Given the description of an element on the screen output the (x, y) to click on. 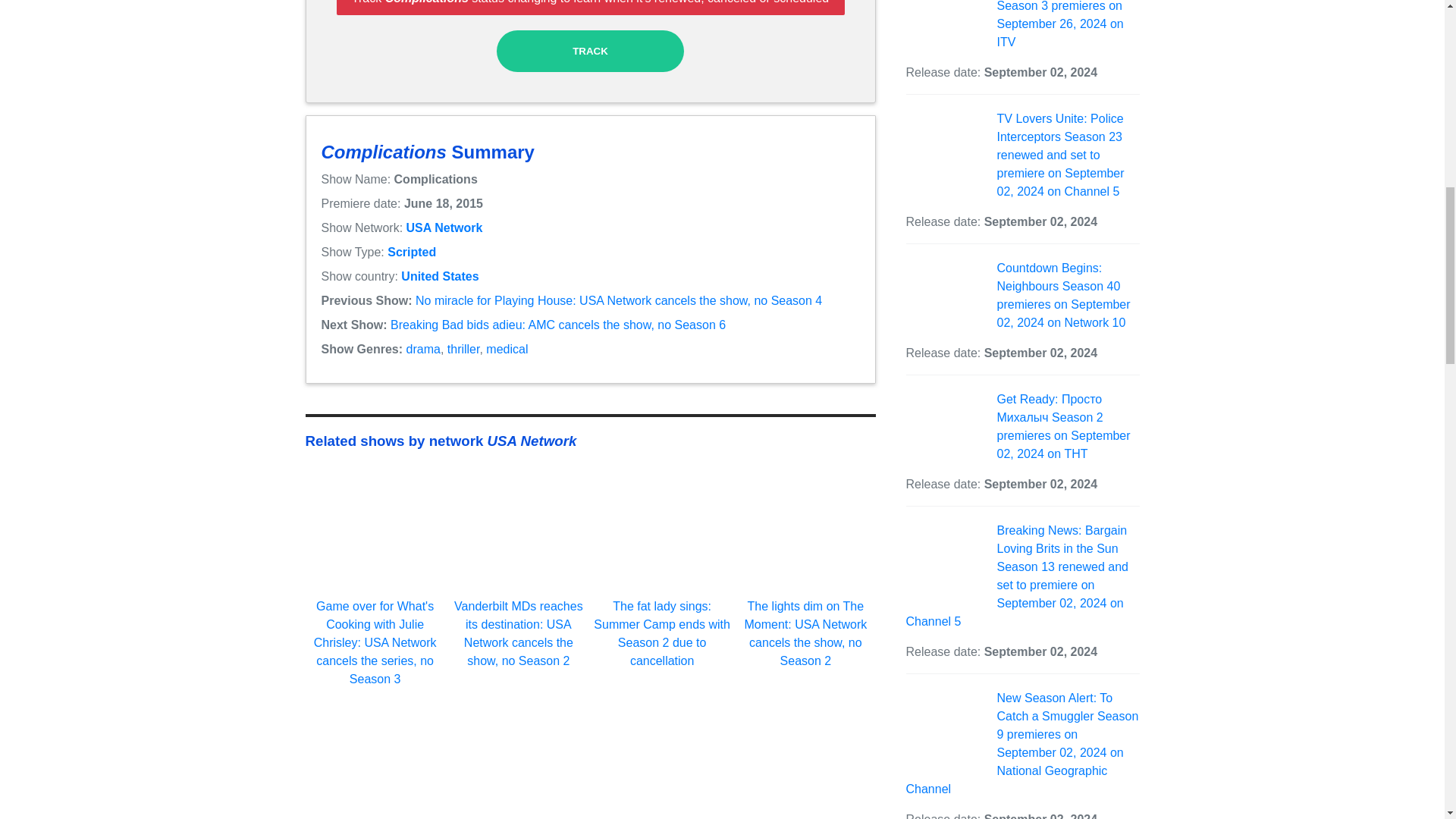
Scripted (411, 251)
thriller (463, 349)
TRACK (590, 51)
Breaking Bad bids adieu: AMC cancels the show, no Season 6 (557, 324)
medical (506, 349)
United States (440, 276)
